Given the description of an element on the screen output the (x, y) to click on. 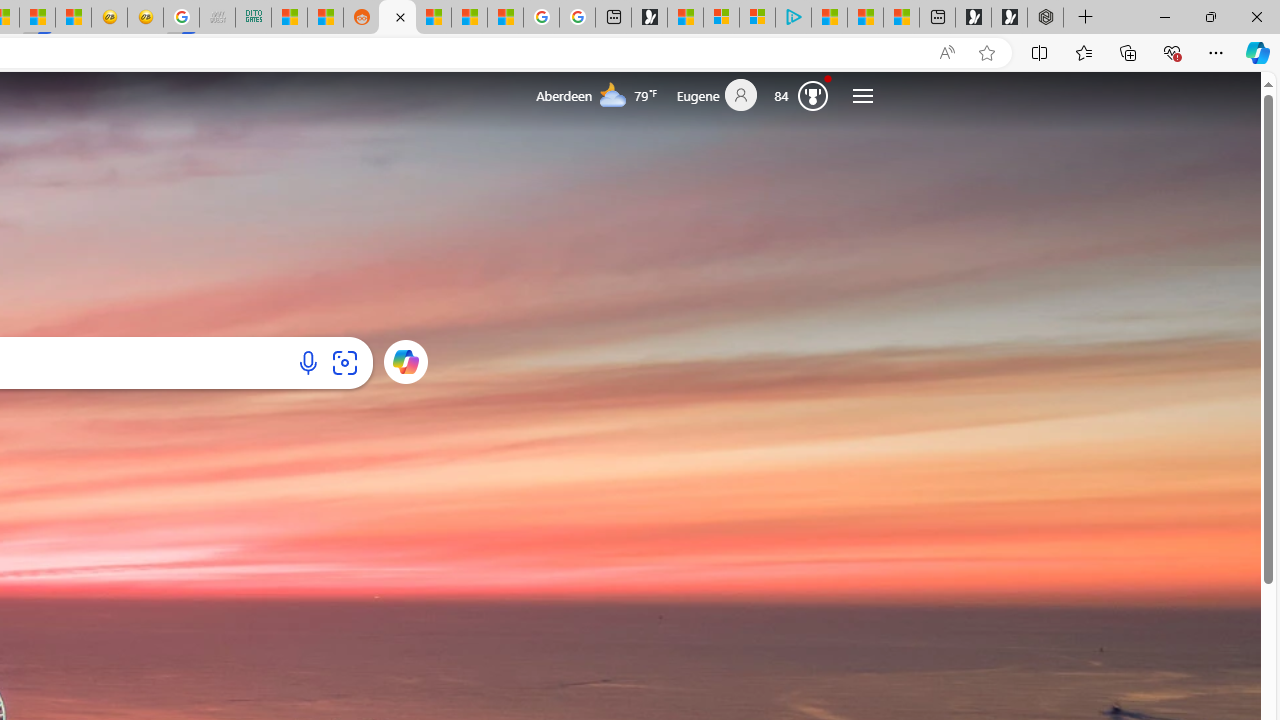
Eugene (724, 95)
These 3 Stocks Pay You More Than 5% to Own Them (901, 17)
Microsoft Rewards 84 (805, 94)
Search using an image (344, 362)
